Given the description of an element on the screen output the (x, y) to click on. 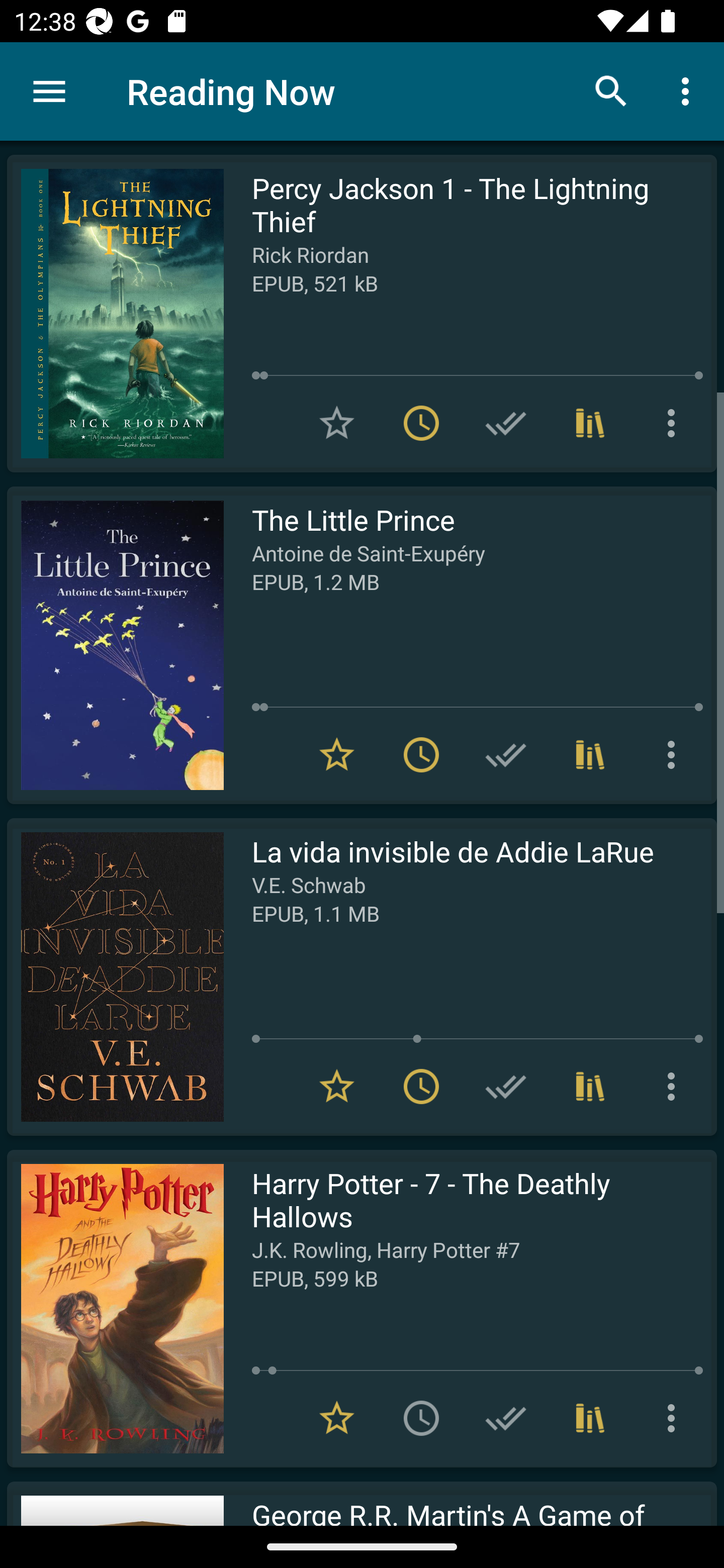
Menu (49, 91)
Search books & documents (611, 90)
More options (688, 90)
Read Percy Jackson 1 - The Lightning Thief (115, 313)
Add to Favorites (336, 423)
Remove from To read (421, 423)
Add to Have read (505, 423)
Collections (1) (590, 423)
More options (674, 423)
Read The Little Prince (115, 645)
Remove from Favorites (336, 753)
Remove from To read (421, 753)
Add to Have read (505, 753)
Collections (1) (590, 753)
More options (674, 753)
Read La vida invisible de Addie LaRue (115, 976)
Remove from Favorites (336, 1086)
